Given the description of an element on the screen output the (x, y) to click on. 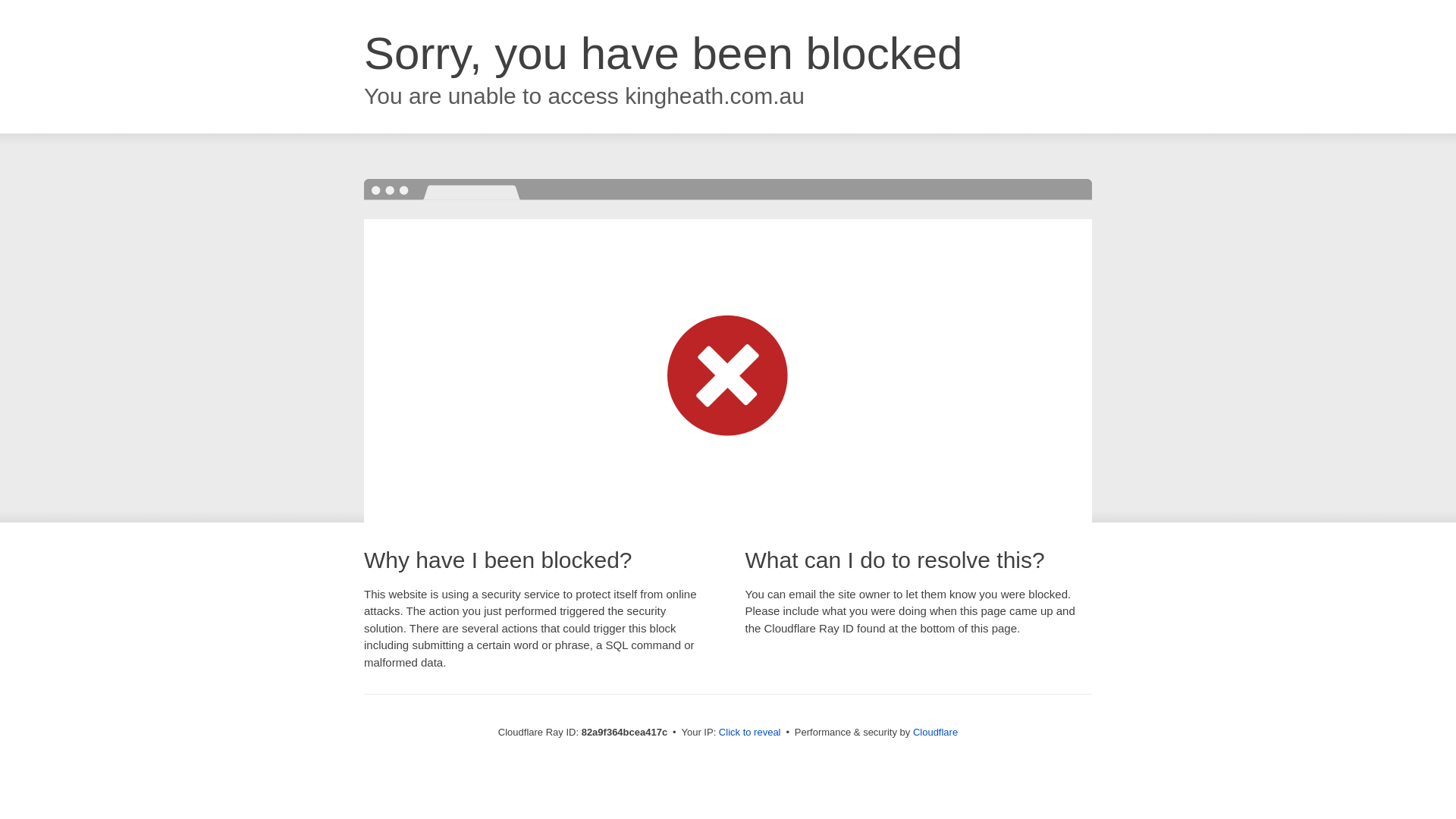
Cloudflare Element type: text (935, 731)
Click to reveal Element type: text (749, 732)
